Given the description of an element on the screen output the (x, y) to click on. 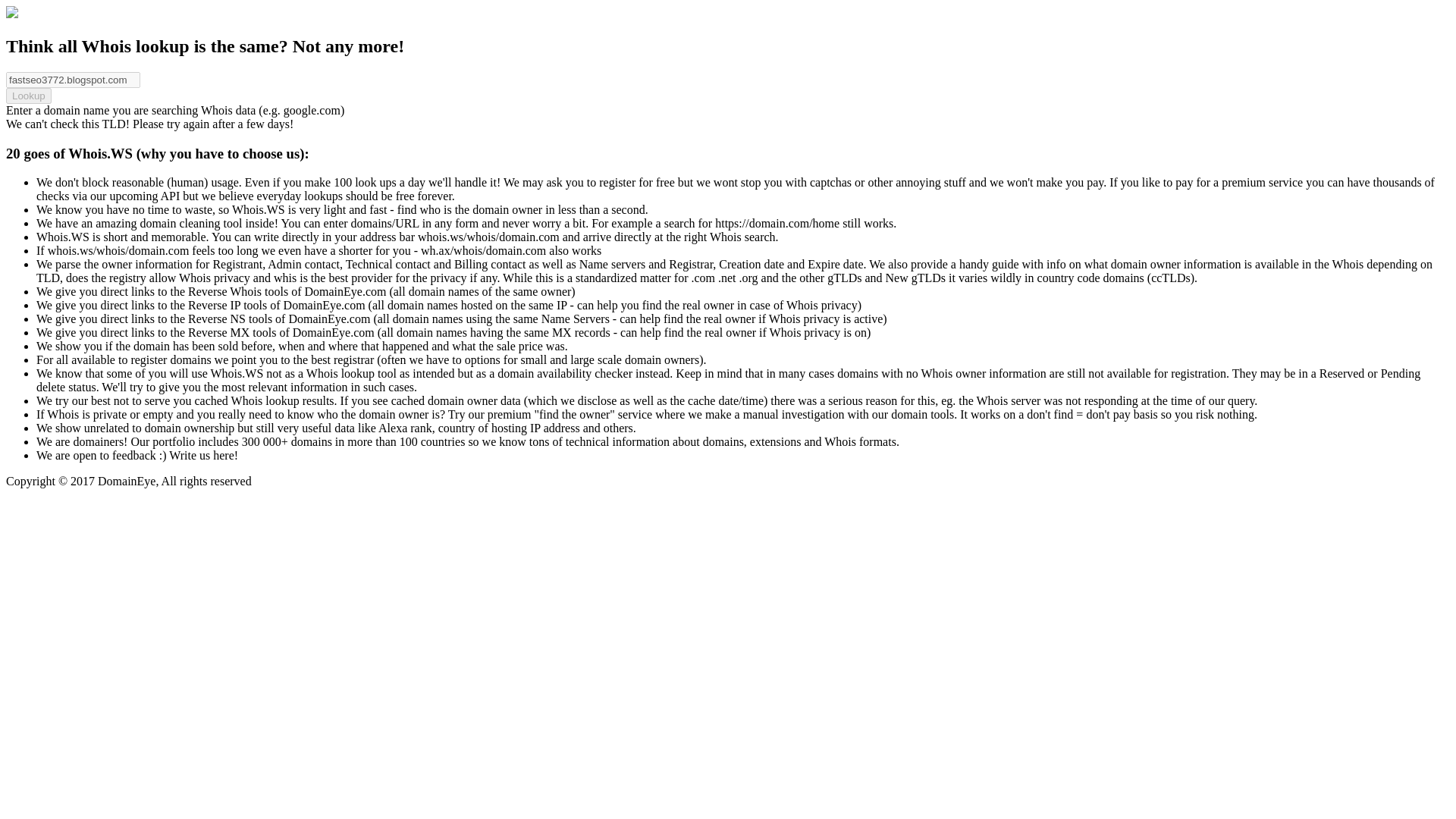
fastseo3772.blogspot.com (72, 79)
Lookup (27, 95)
